Given the description of an element on the screen output the (x, y) to click on. 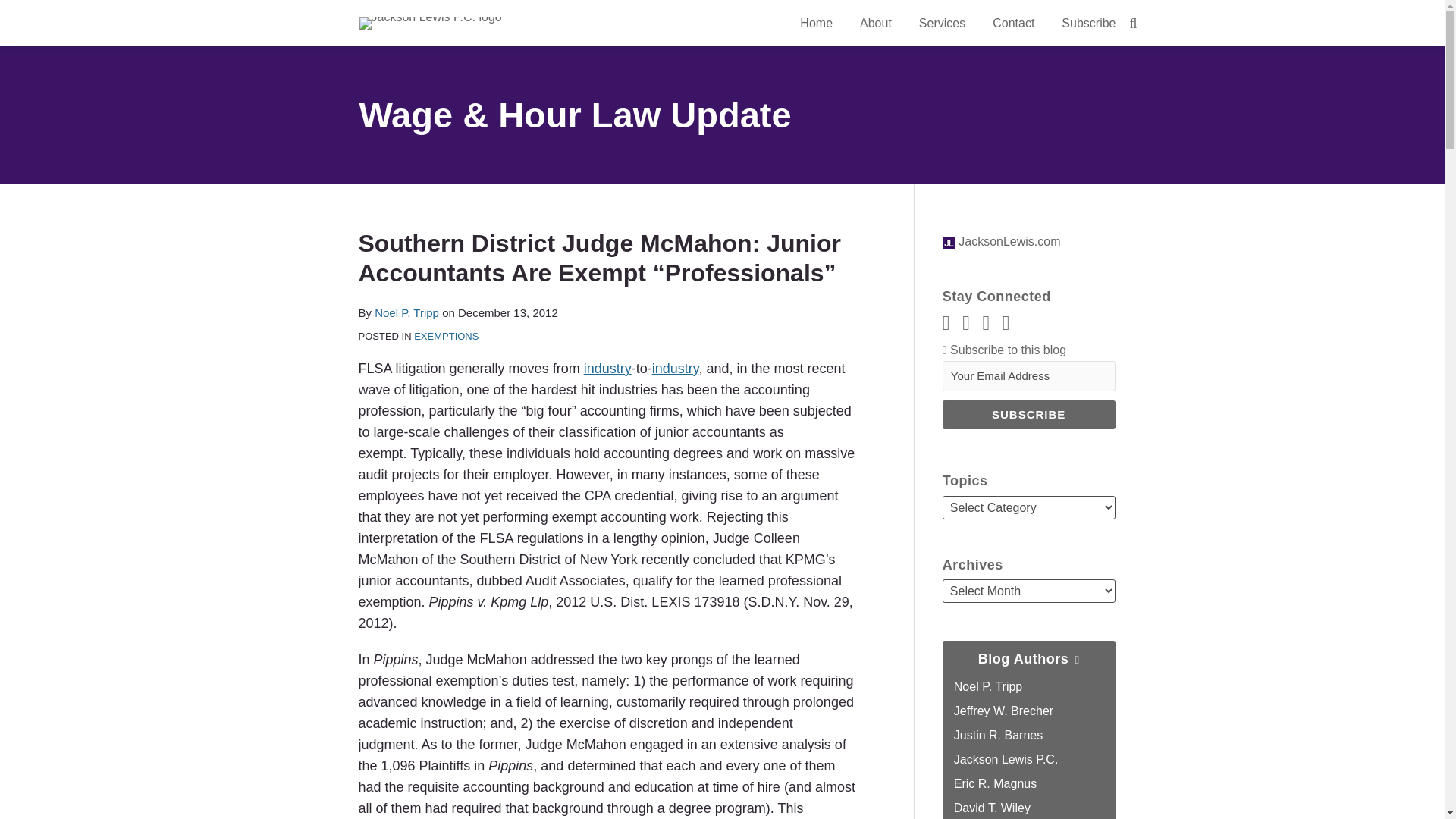
Subscribe (1088, 23)
Subscribe (1028, 414)
EXEMPTIONS (446, 336)
Services (941, 23)
industry (607, 368)
Home (815, 23)
About (875, 23)
industry (675, 368)
Contact (1012, 23)
Noel P. Tripp (406, 312)
